Given the description of an element on the screen output the (x, y) to click on. 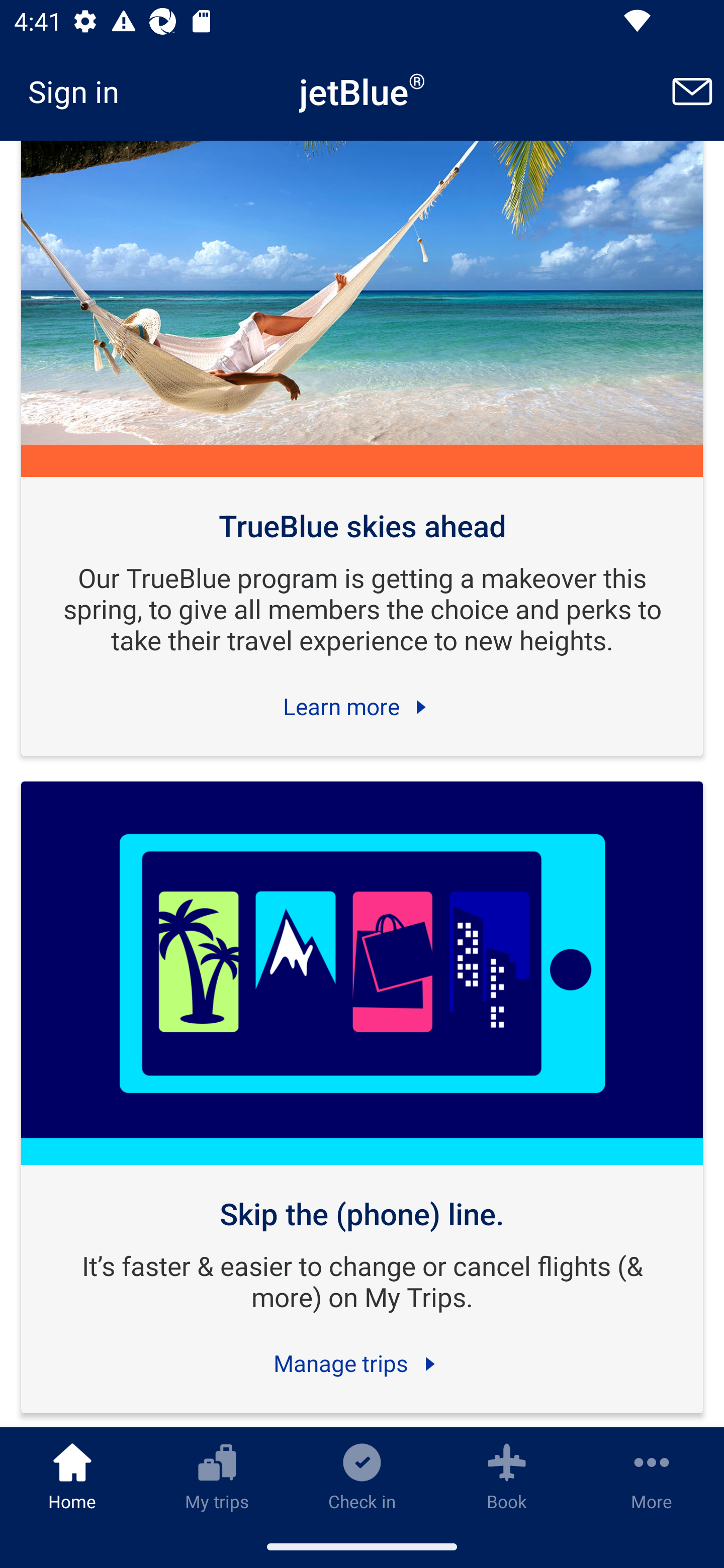
Sign in (80, 91)
Learn more (361, 706)
Manage trips (361, 1363)
My trips (216, 1475)
Check in (361, 1475)
Book (506, 1475)
More (651, 1475)
